Given the description of an element on the screen output the (x, y) to click on. 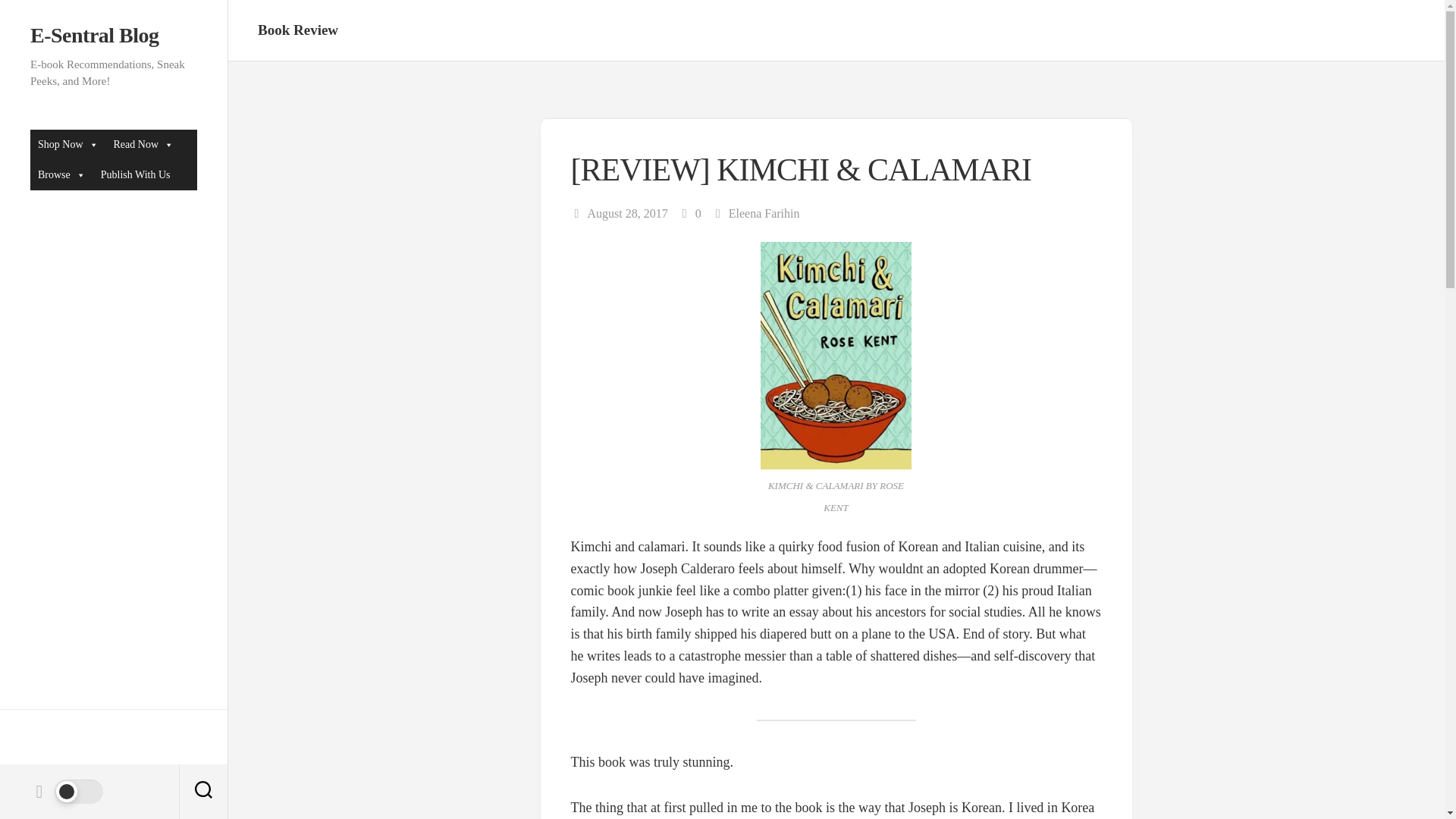
Publish With Us (135, 174)
E-Sentral Blog (113, 35)
Browse (61, 174)
Shop Now (68, 144)
Read Now (144, 144)
